Given the description of an element on the screen output the (x, y) to click on. 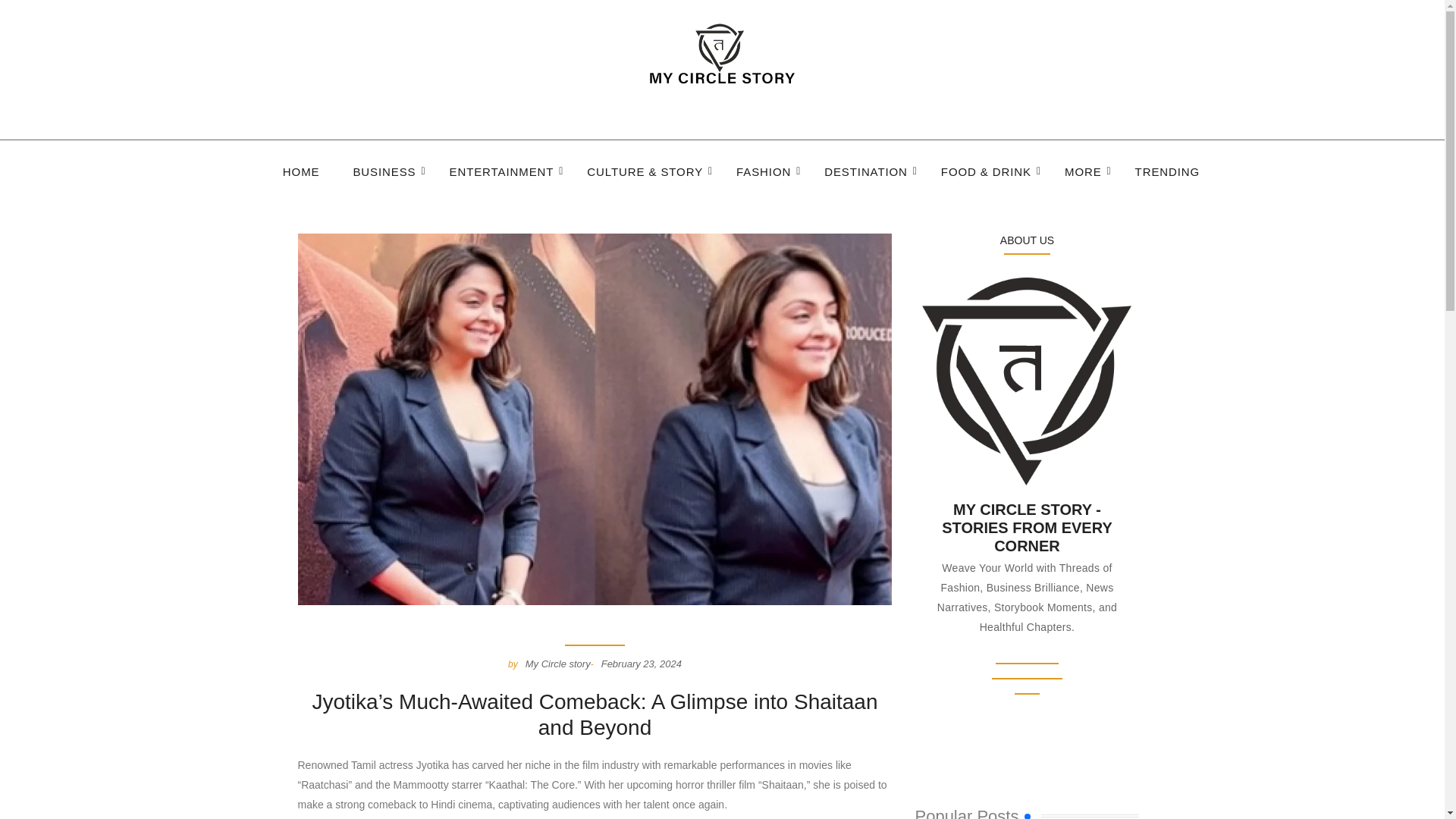
DESTINATION (866, 172)
FASHION (762, 172)
ENTERTAINMENT (502, 172)
BUSINESS (384, 172)
TRENDING (1167, 172)
HOME (301, 172)
MORE (1082, 172)
